Given the description of an element on the screen output the (x, y) to click on. 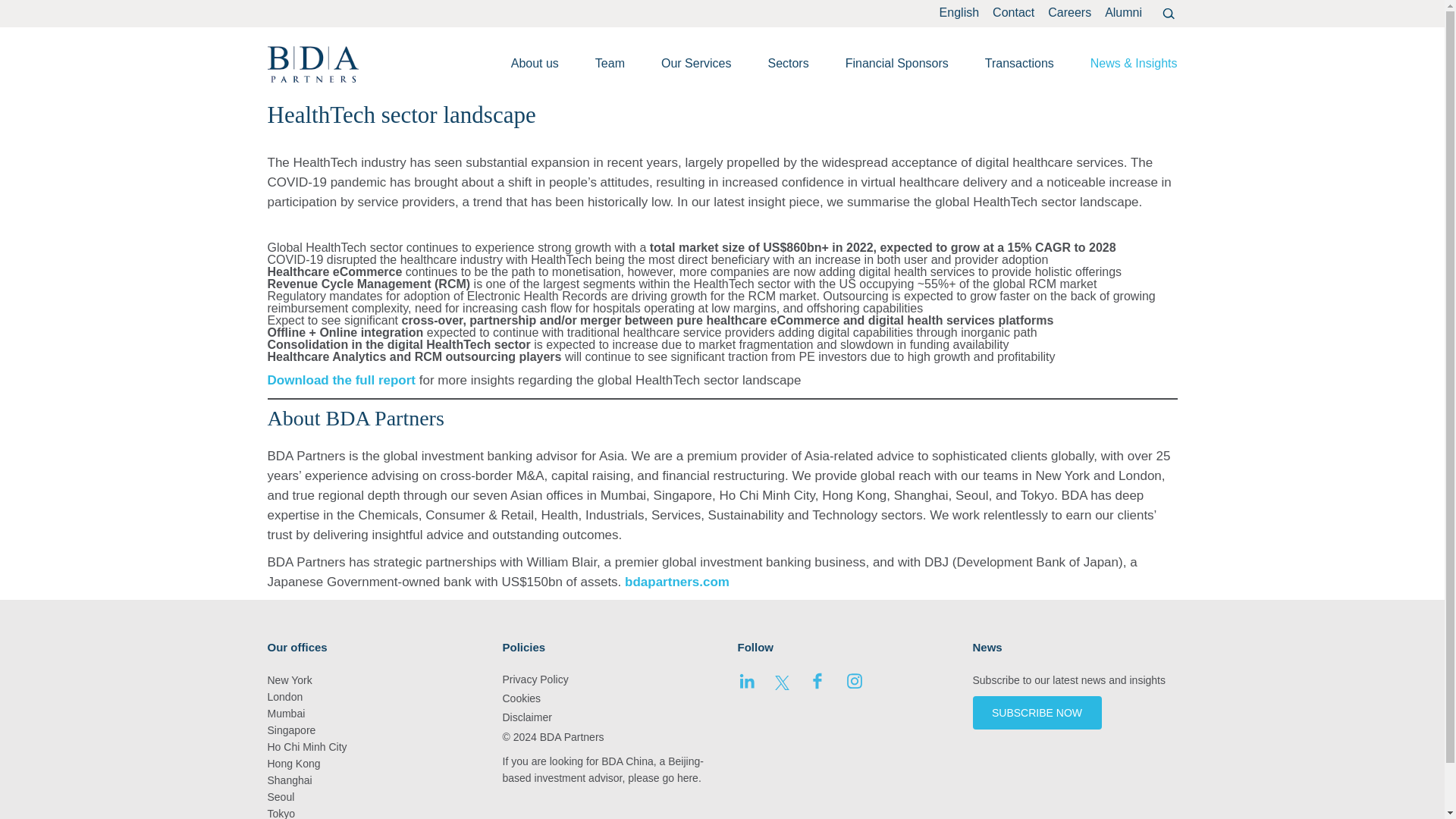
Team (609, 62)
Twitter (781, 686)
Transactions (1019, 62)
English (958, 12)
About us (535, 62)
Facebook (817, 686)
Ho Chi Minh City (306, 746)
Careers (1069, 11)
Search (1167, 13)
New York (288, 680)
LinkedIn (745, 686)
Financial Sponsors (897, 62)
Contact (1012, 11)
Search (1167, 13)
Search (1167, 13)
